Given the description of an element on the screen output the (x, y) to click on. 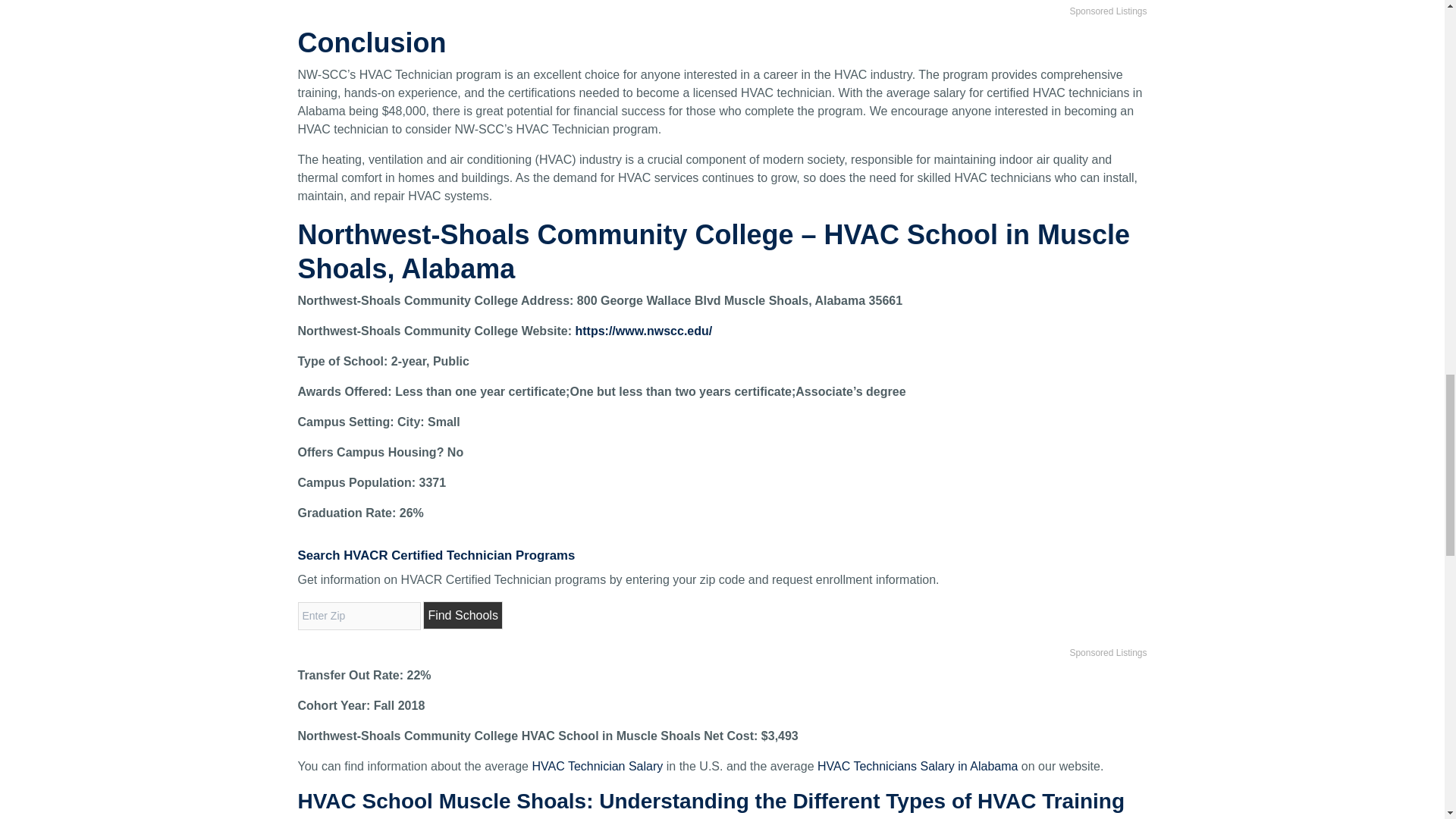
HVAC Technicians Salary in Alabama (916, 766)
Find Schools (462, 615)
Find Schools (462, 615)
HVAC Technician Salary (596, 766)
